Given the description of an element on the screen output the (x, y) to click on. 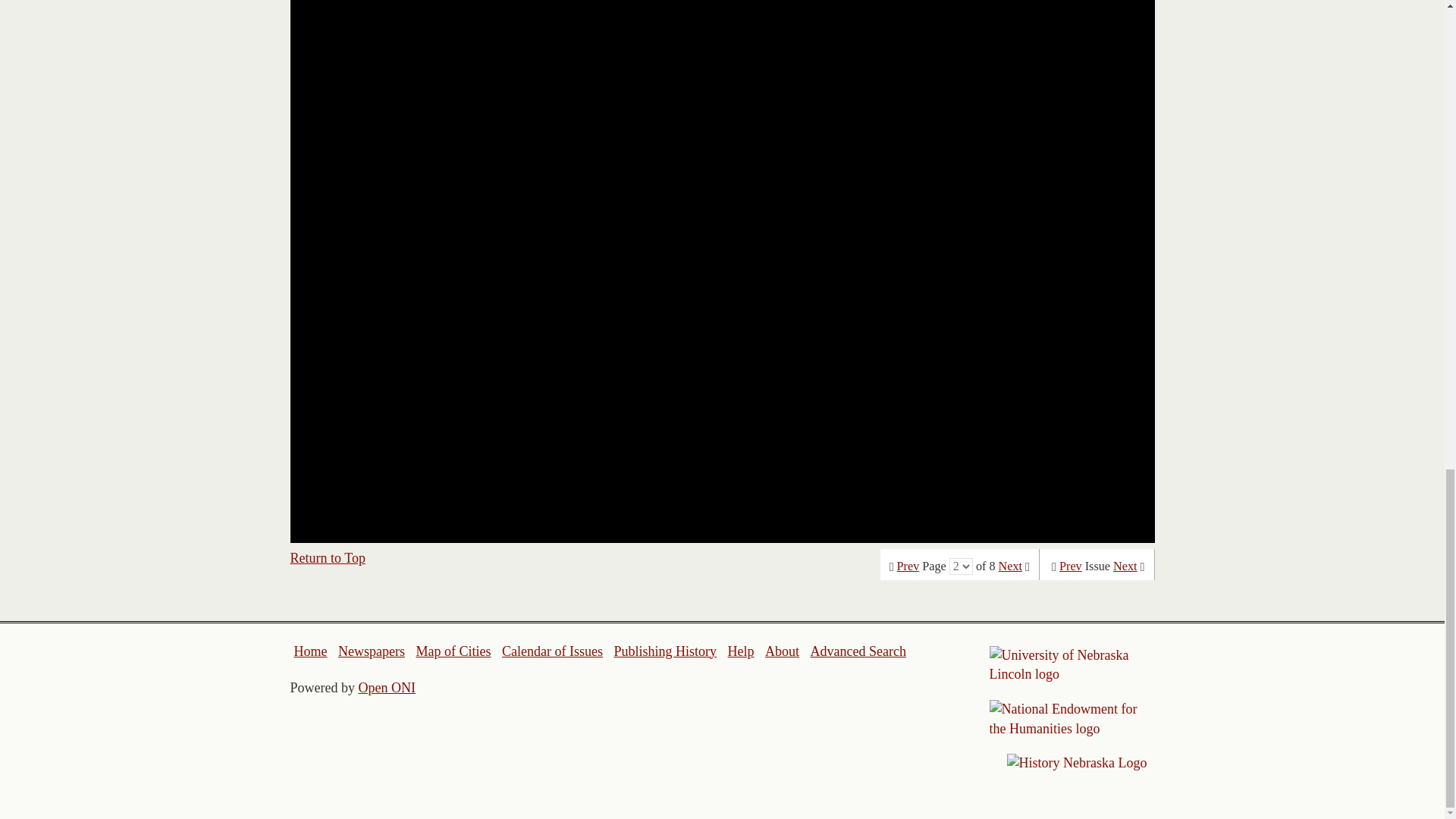
Prev (908, 566)
Home (310, 651)
Newspapers (370, 651)
Publishing History (664, 651)
Help (740, 651)
Prev (1070, 566)
Map of Cities (452, 651)
About (782, 651)
Next (1010, 566)
Open ONI (386, 687)
Advanced Search (857, 651)
Return to Top (327, 557)
Next (1125, 566)
Calendar of Issues (552, 651)
